Given the description of an element on the screen output the (x, y) to click on. 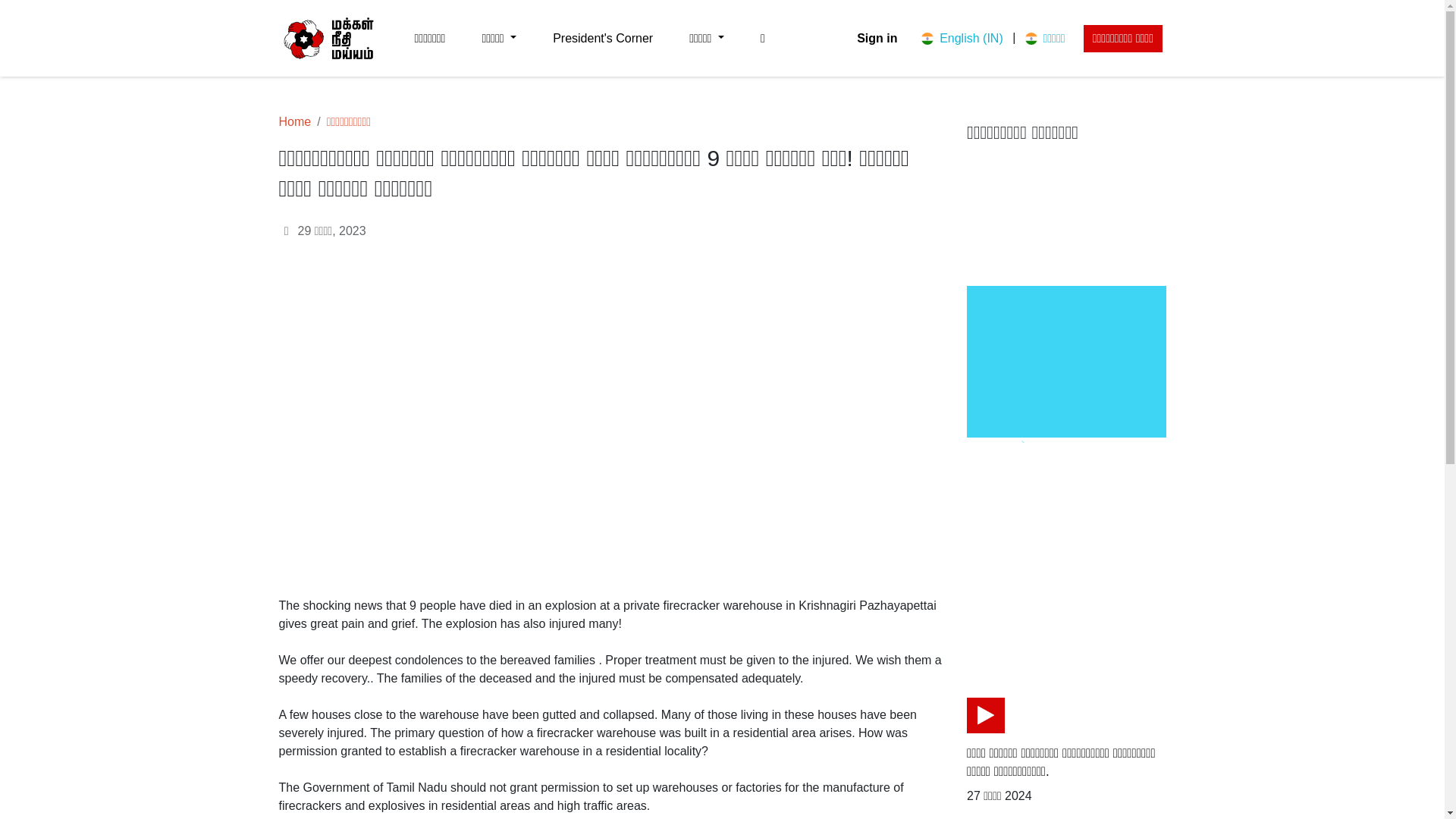
Makkal Needhi Maiam (328, 38)
Share on LinkedIn (1069, 647)
Share on Facebook (984, 647)
Sign in (876, 37)
Home (295, 121)
President's Corner (602, 37)
Share on Twitter (1027, 647)
